Given the description of an element on the screen output the (x, y) to click on. 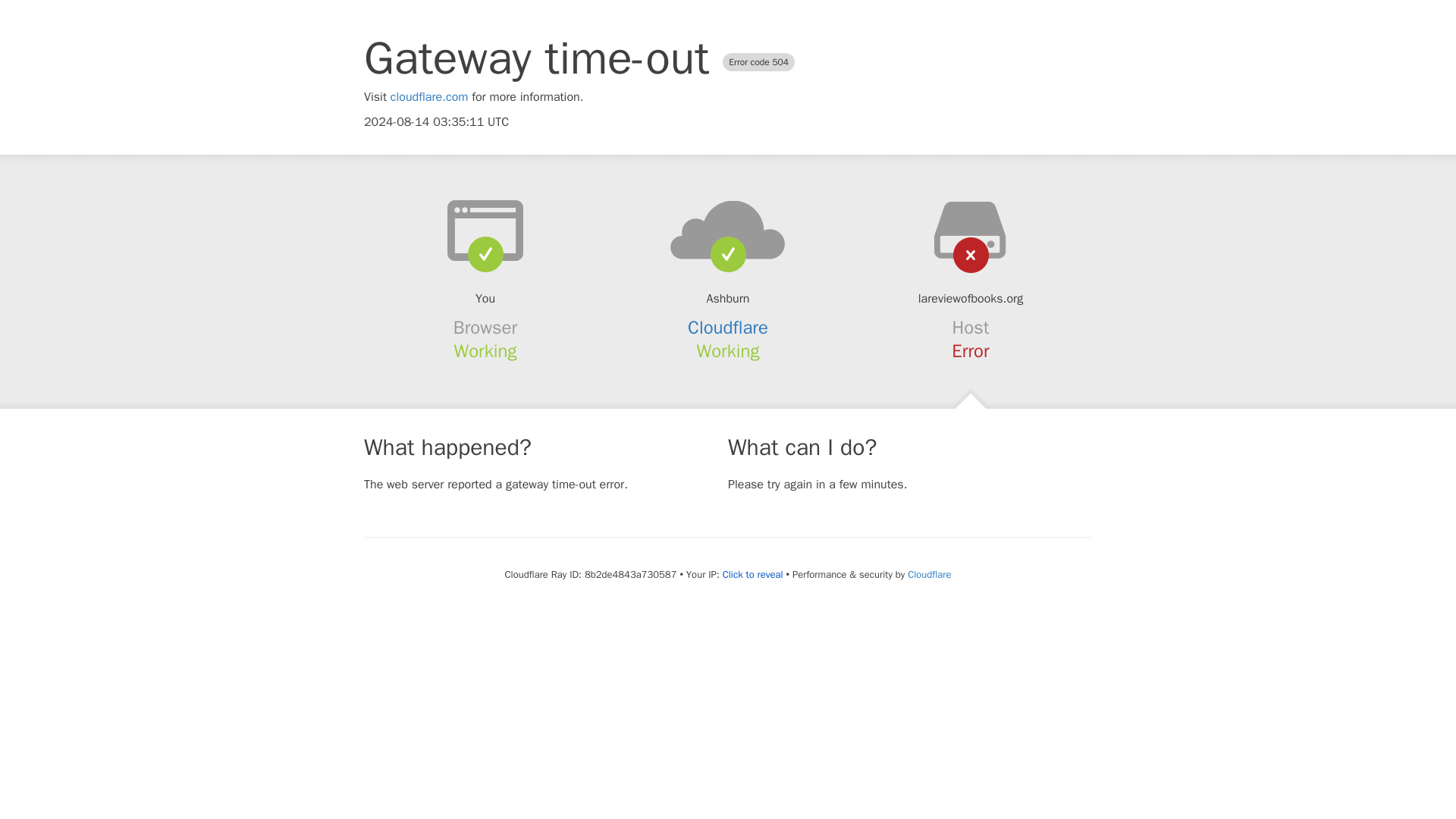
Cloudflare (727, 327)
Click to reveal (752, 574)
Cloudflare (928, 574)
cloudflare.com (429, 96)
